Given the description of an element on the screen output the (x, y) to click on. 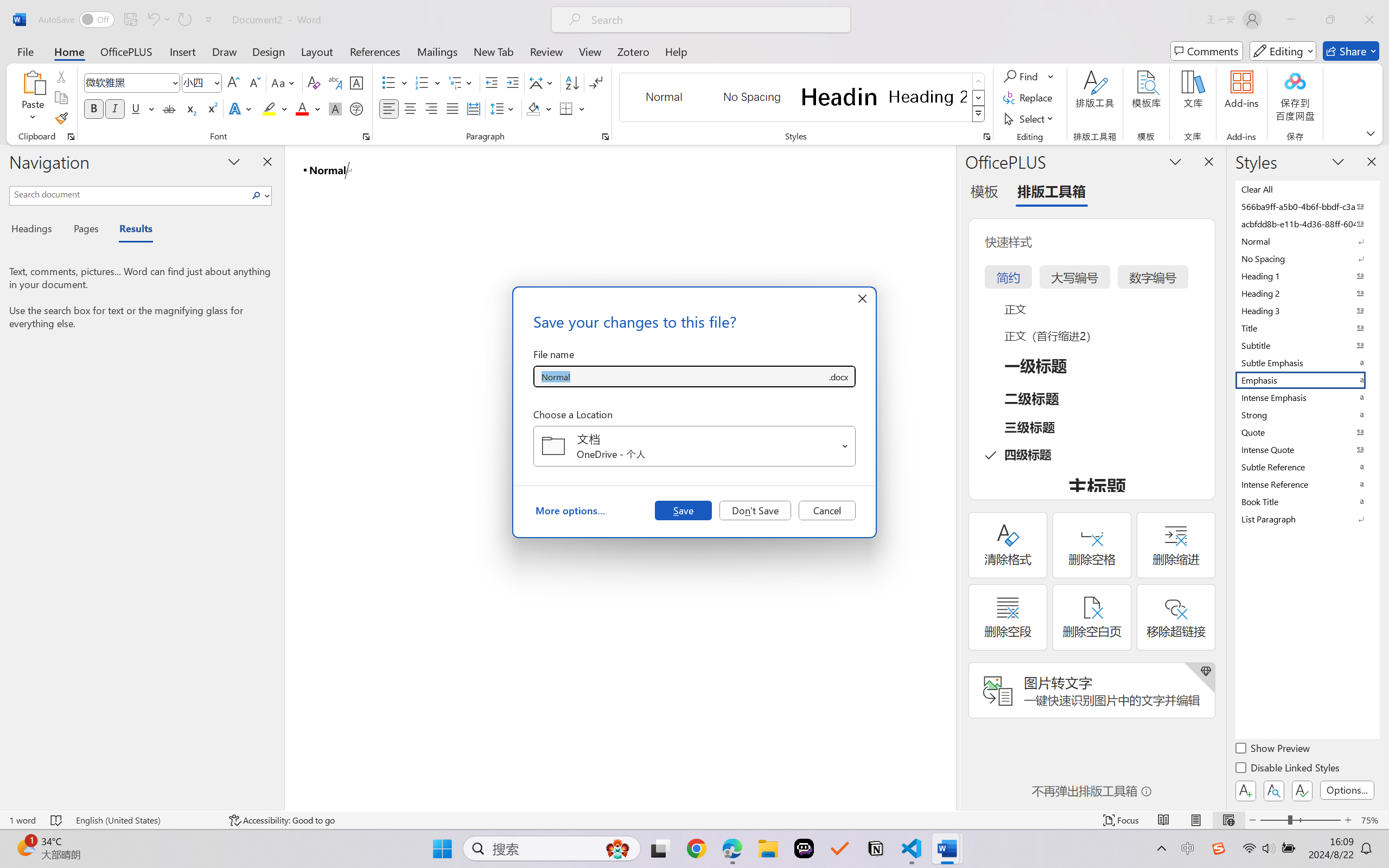
Bullets (388, 82)
Can't Repeat (184, 19)
Find (1029, 75)
Clear Formatting (313, 82)
New Tab (493, 51)
Web Layout (1228, 819)
Font Color Red (302, 108)
Mailings (437, 51)
